Given the description of an element on the screen output the (x, y) to click on. 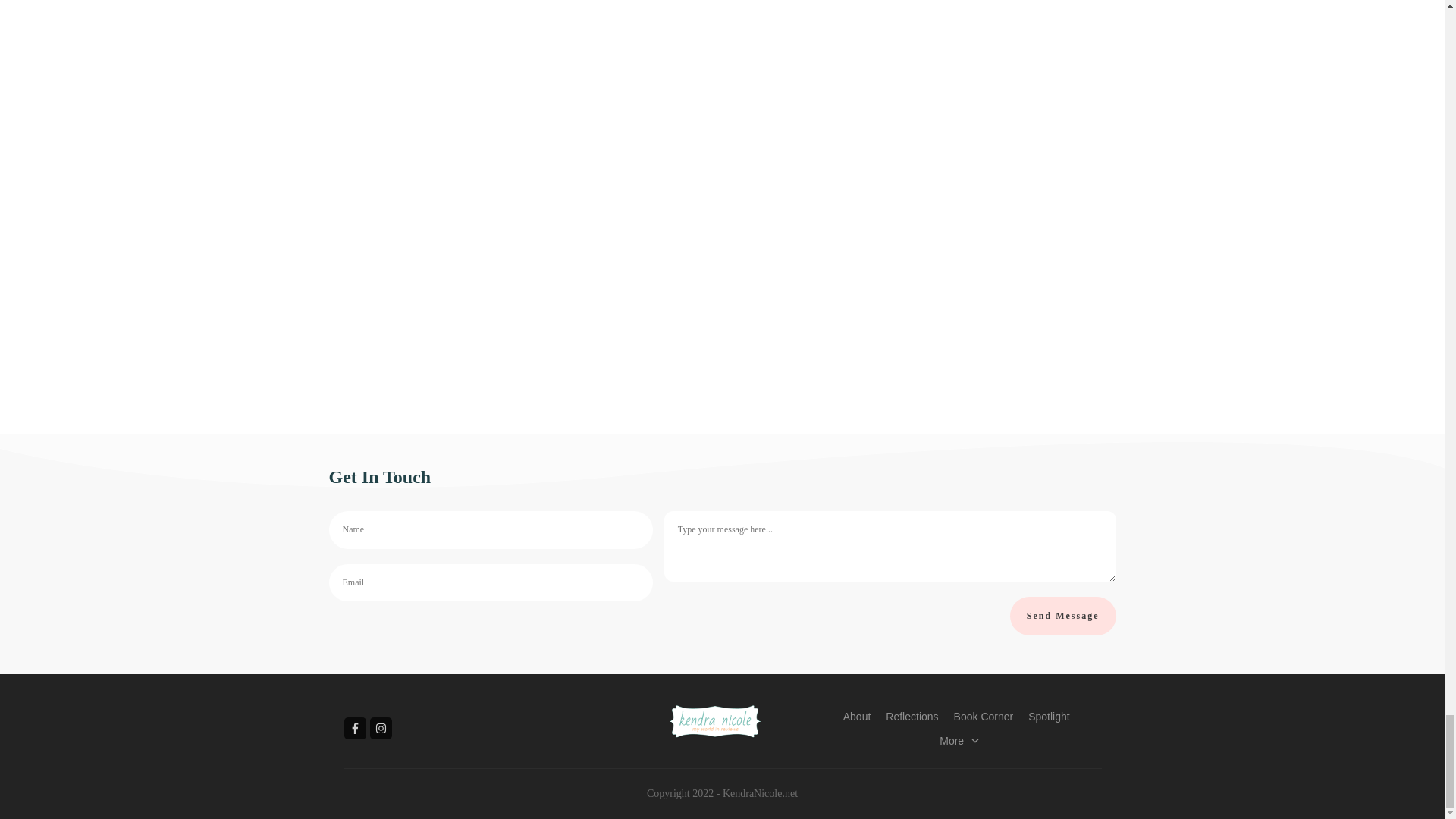
Send Message (1063, 615)
